Given the description of an element on the screen output the (x, y) to click on. 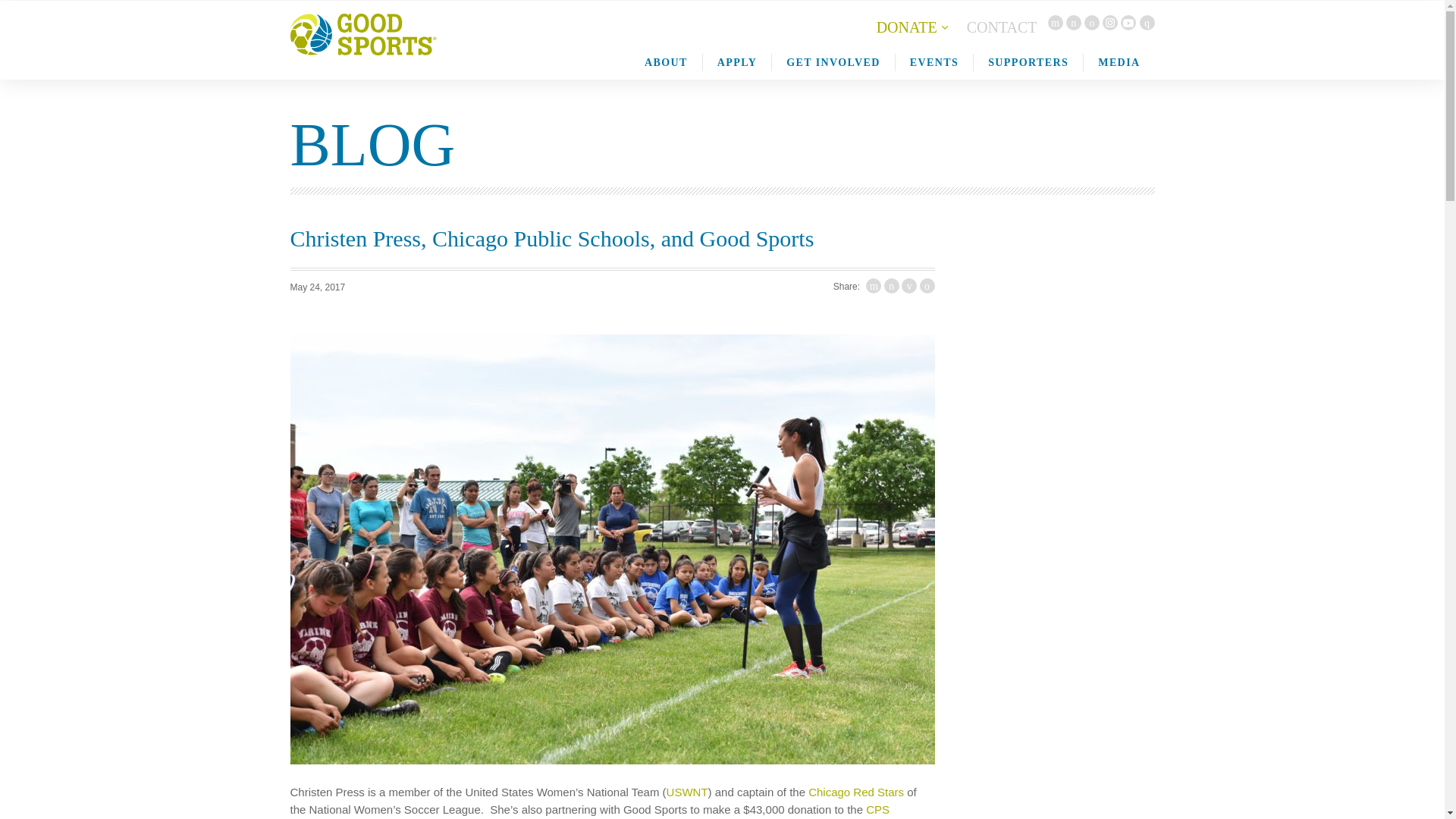
GET INVOLVED (833, 62)
YouTube (1128, 22)
Twitter (1055, 22)
Good Sports (362, 38)
DONATE (906, 27)
EVENTS (934, 62)
ABOUT (665, 62)
MEDIA (1118, 62)
Instagram (1110, 22)
SUPPORTERS (1027, 62)
CONTACT (1001, 27)
RSS (1146, 22)
LinkedIn (1091, 22)
APPLY (736, 62)
Facebook (1073, 22)
